Given the description of an element on the screen output the (x, y) to click on. 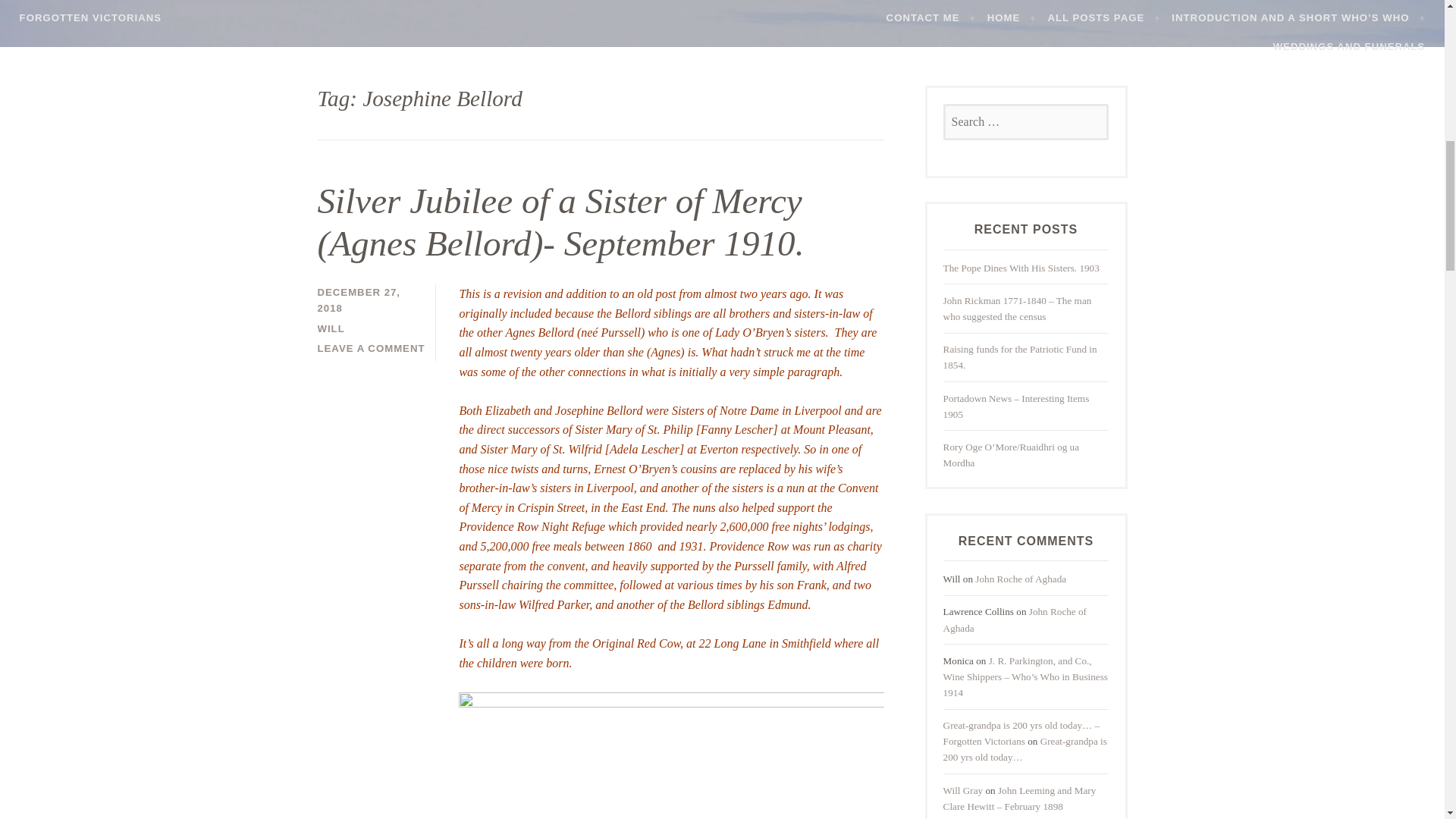
WILL (330, 328)
Raising funds for the Patriotic Fund in 1854. (1020, 357)
DECEMBER 27, 2018 (357, 299)
John Roche of Aghada (1014, 619)
LEAVE A COMMENT (371, 348)
John Roche of Aghada (1020, 578)
The Pope Dines With His Sisters. 1903 (1021, 267)
